Given the description of an element on the screen output the (x, y) to click on. 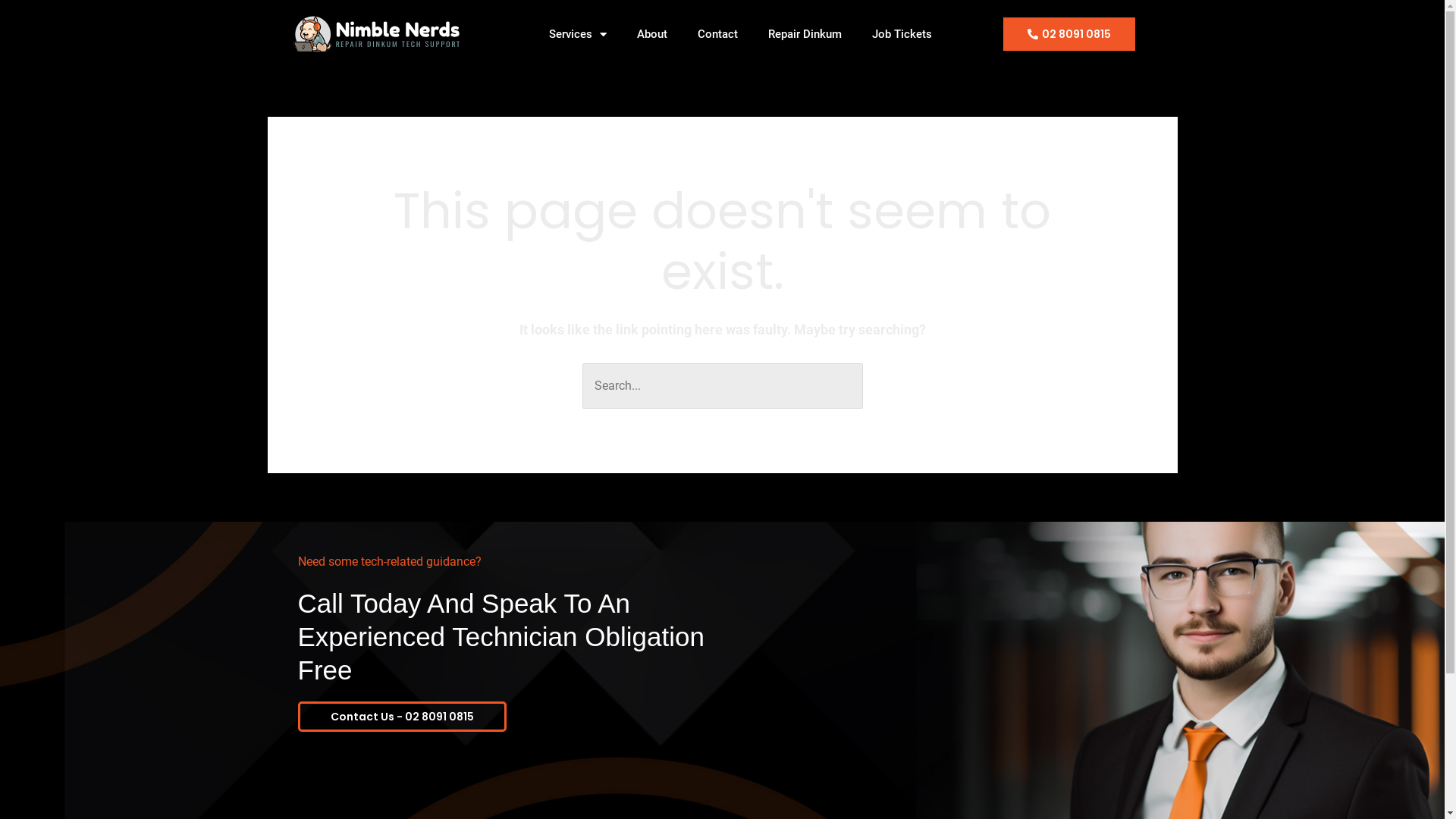
Repair Dinkum Element type: text (804, 34)
02 8091 0815 Element type: text (1069, 33)
Job Tickets Element type: text (901, 34)
Search Element type: text (845, 378)
Contact Us - 02 8091 0815 Element type: text (401, 716)
Contact Element type: text (717, 34)
Services Element type: text (577, 34)
About Element type: text (651, 34)
